Given the description of an element on the screen output the (x, y) to click on. 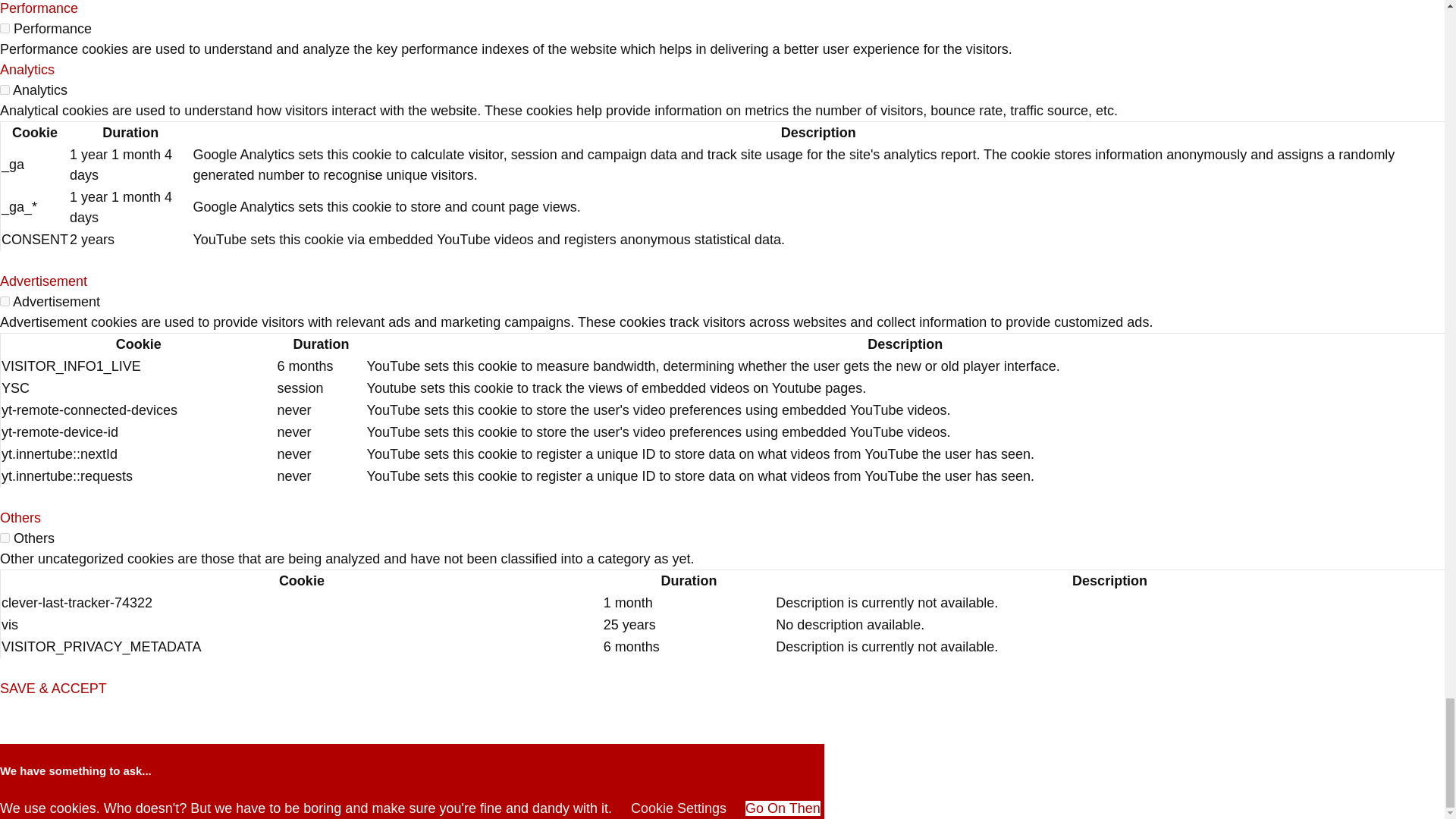
on (5, 90)
on (5, 537)
on (5, 301)
on (5, 28)
